Given the description of an element on the screen output the (x, y) to click on. 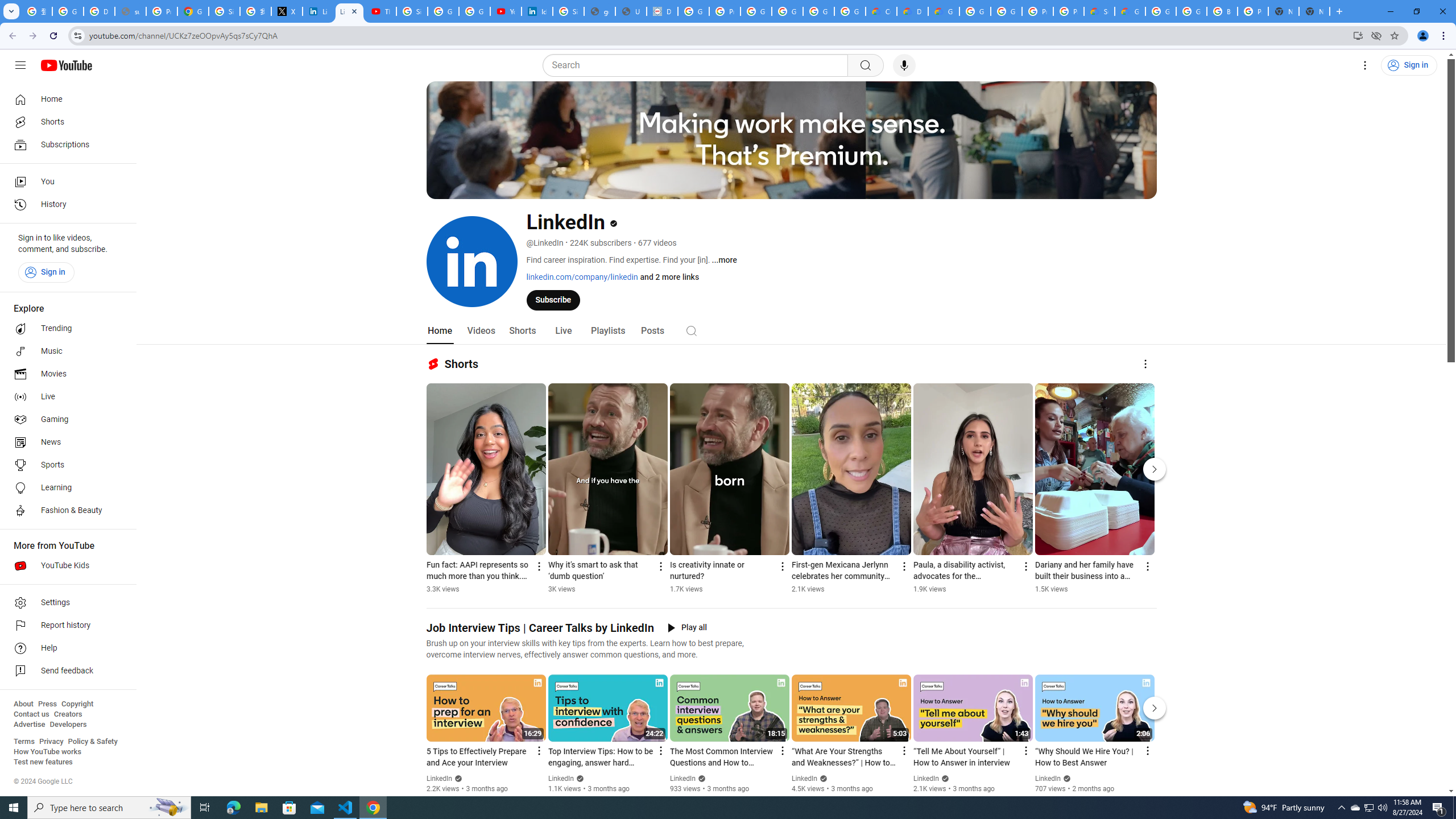
Subscribe (552, 299)
google_privacy_policy_en.pdf (599, 11)
LinkedIn - YouTube (349, 11)
Live (562, 330)
